Given the description of an element on the screen output the (x, y) to click on. 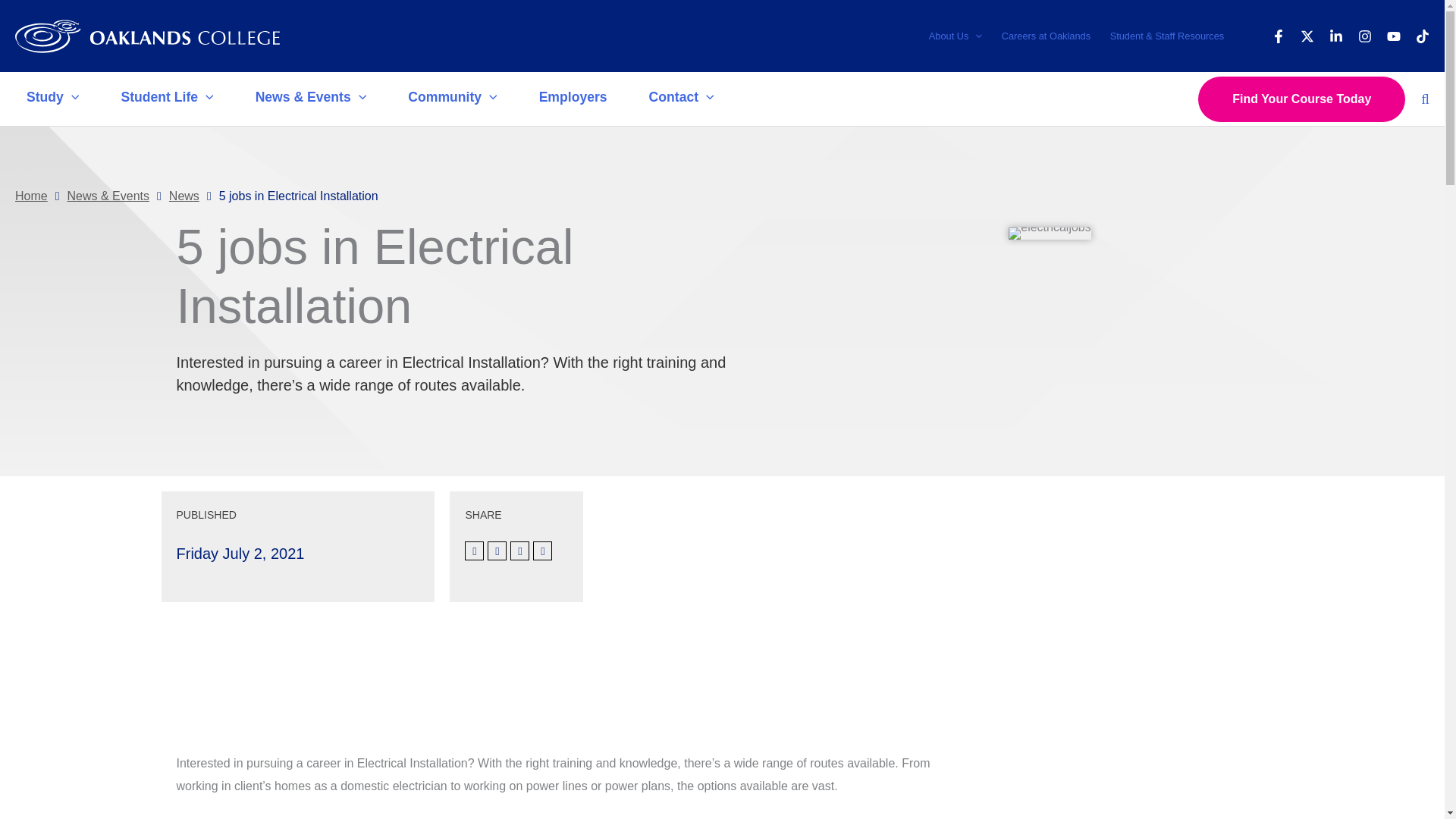
Careers at Oaklands (1045, 36)
electricaljobs (1049, 233)
About Us (954, 36)
Study (54, 99)
Click Here (229, 665)
